Given the description of an element on the screen output the (x, y) to click on. 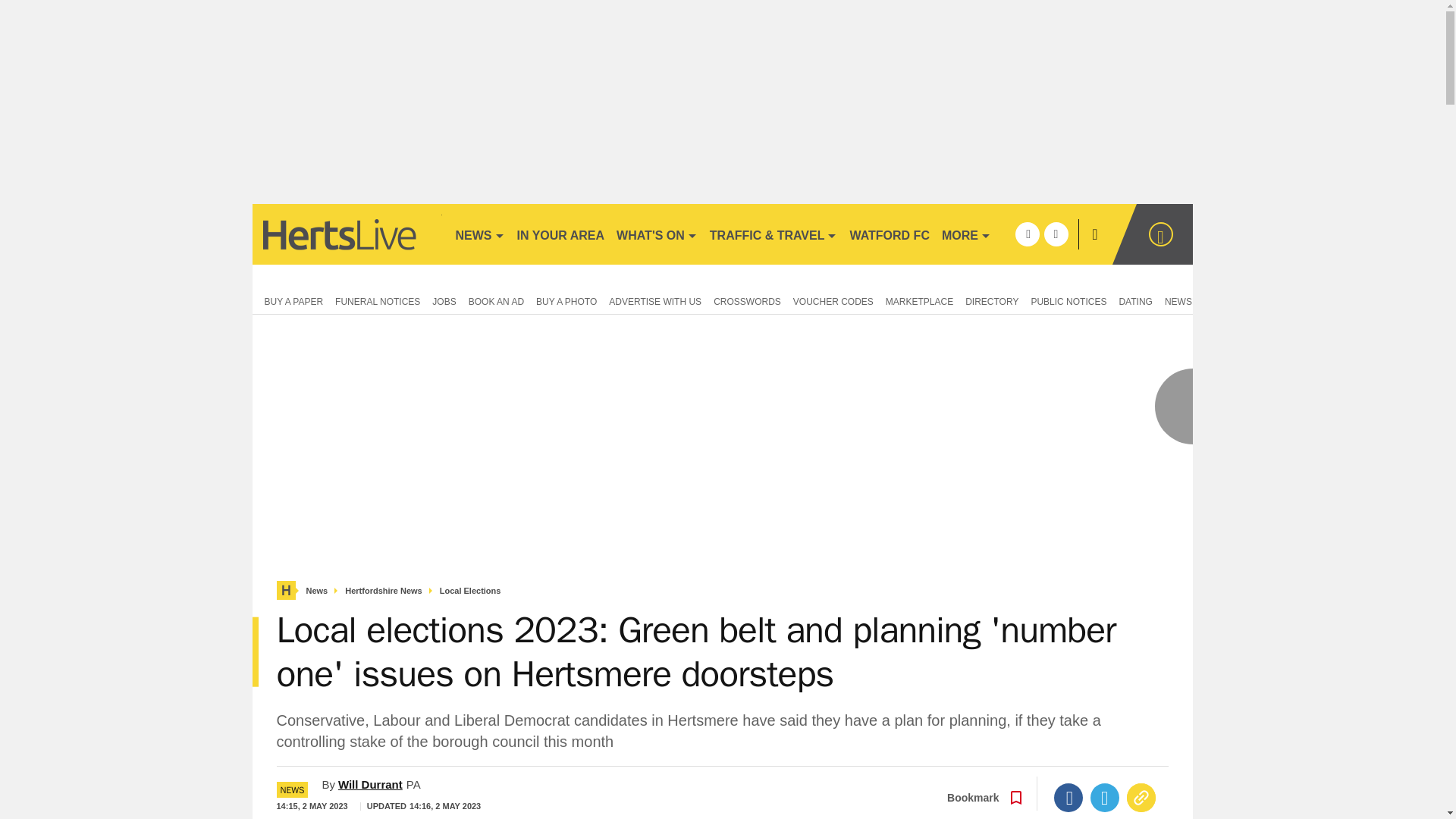
Twitter (1104, 797)
twitter (1055, 233)
WATFORD FC (888, 233)
hertfordshiremercury (346, 233)
NEWS (479, 233)
IN YOUR AREA (561, 233)
WHAT'S ON (656, 233)
Facebook (1068, 797)
facebook (1026, 233)
MORE (966, 233)
